Given the description of an element on the screen output the (x, y) to click on. 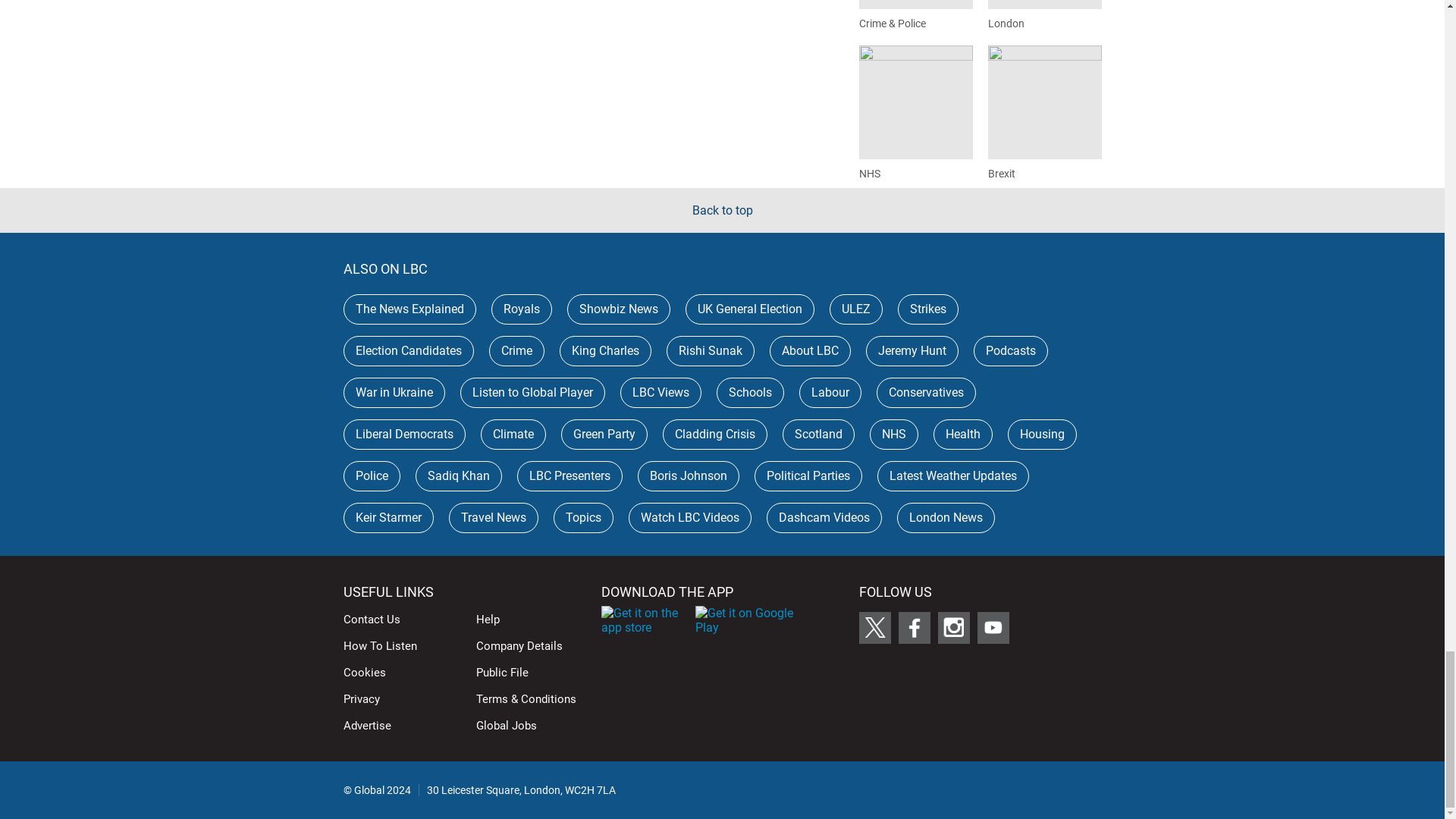
Follow LBC on Facebook (914, 627)
Back to top (721, 210)
Follow LBC on Youtube (992, 627)
Follow LBC on X (874, 627)
Follow LBC on Instagram (953, 627)
